Given the description of an element on the screen output the (x, y) to click on. 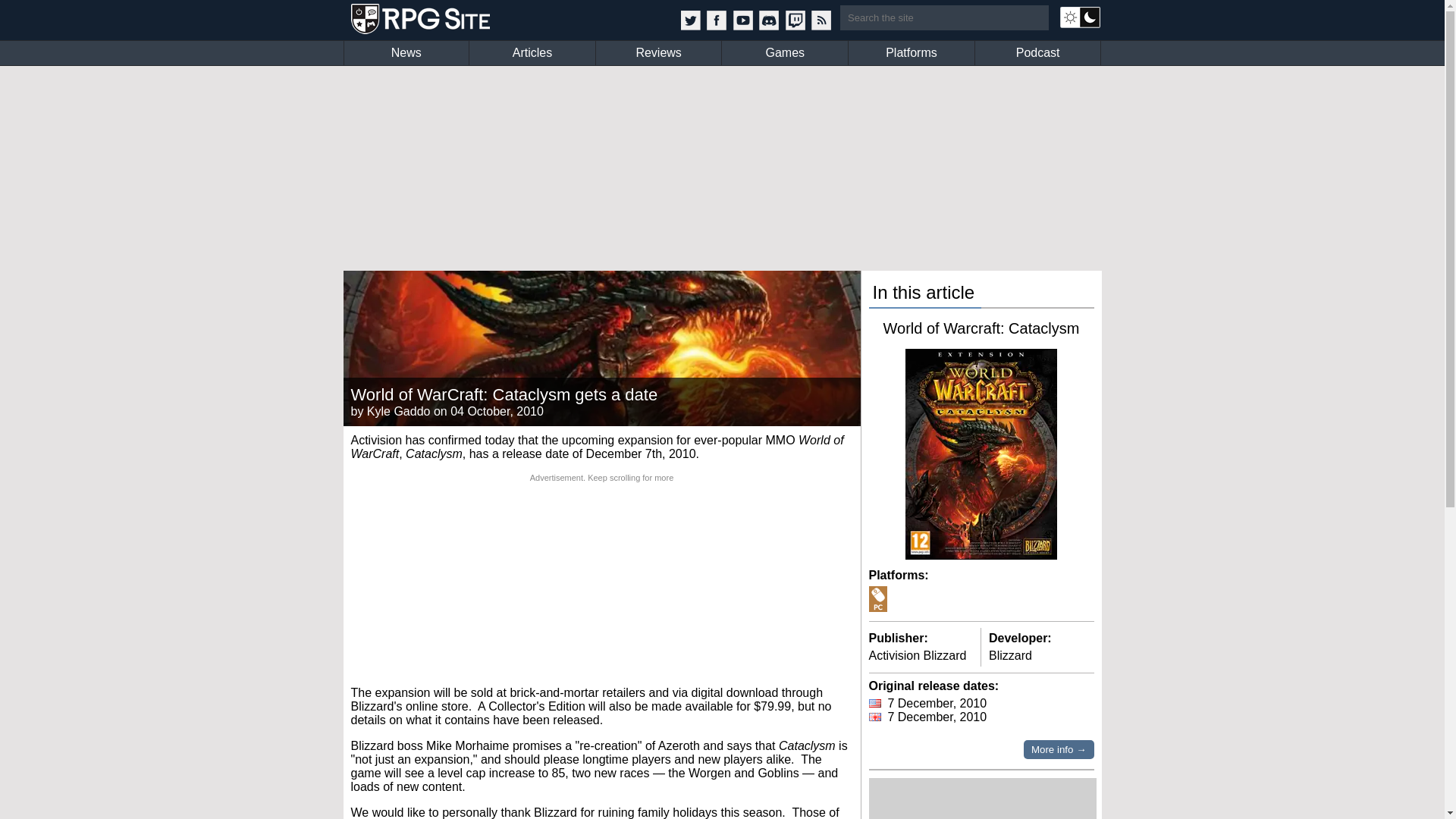
News (405, 52)
World of Warcraft: Cataclysm (981, 328)
Reviews (658, 52)
Articles (531, 52)
Kyle Gaddo (398, 410)
Podcast (1037, 52)
Platforms (911, 52)
Games (784, 52)
